Given the description of an element on the screen output the (x, y) to click on. 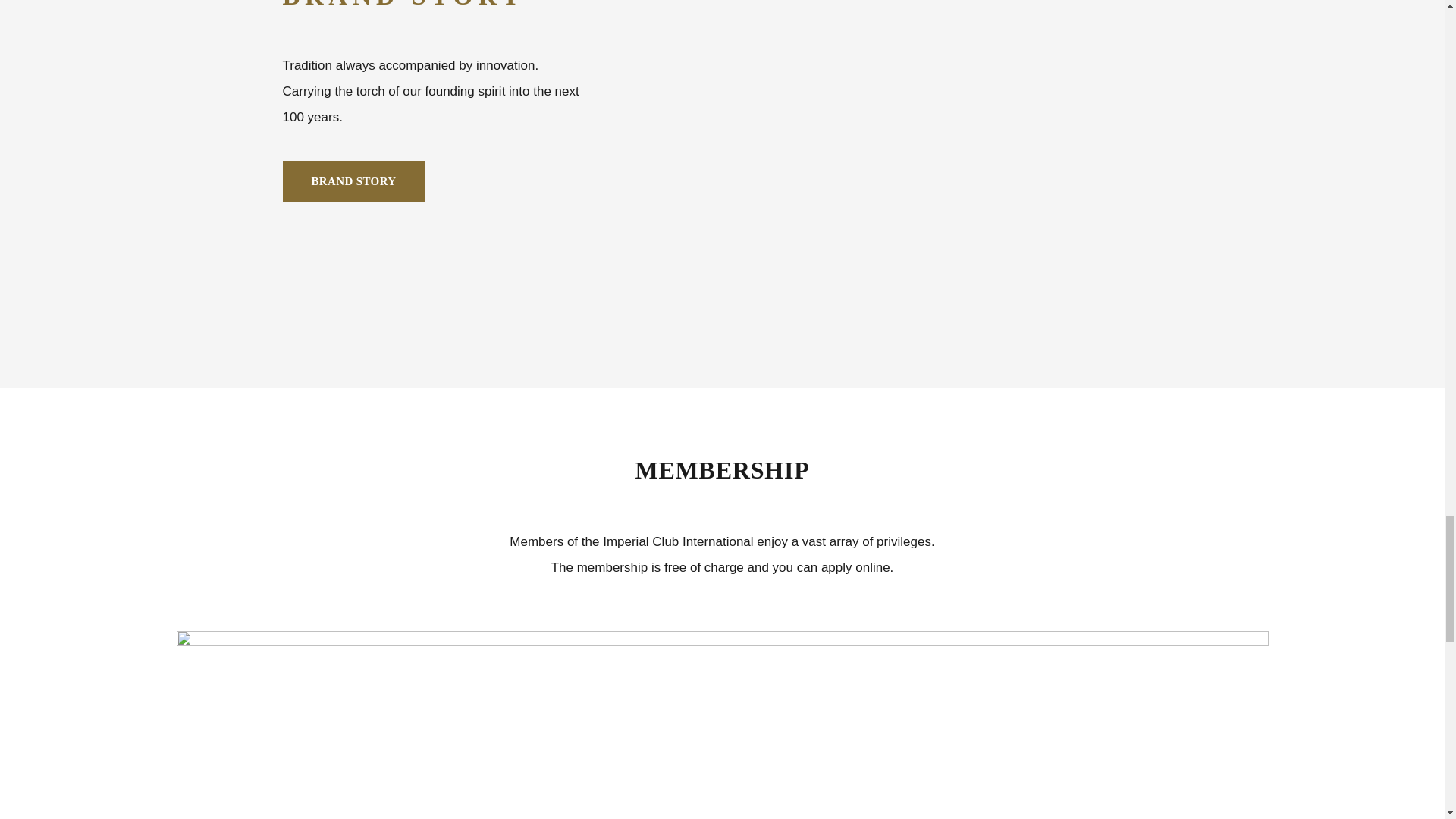
BRAND STORY (353, 180)
